Given the description of an element on the screen output the (x, y) to click on. 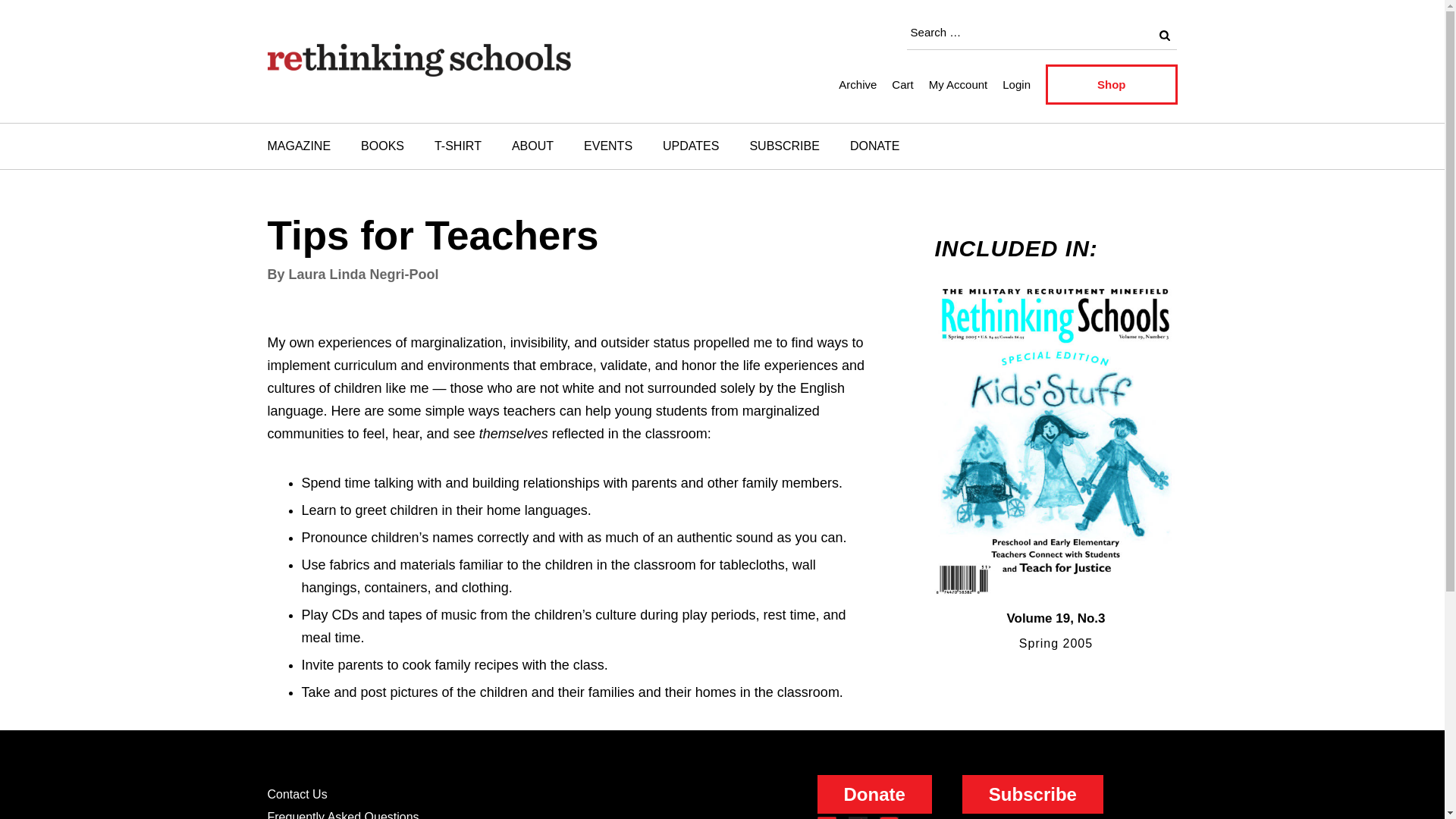
Contact Us (296, 793)
SUBSCRIBE (783, 146)
Rethinking Schools (400, 102)
Search (1163, 35)
DONATE (874, 146)
Login (1016, 83)
T-SHIRT (457, 146)
BOOKS (382, 146)
Frequently Asked Questions (342, 814)
Shop (1111, 84)
